Given the description of an element on the screen output the (x, y) to click on. 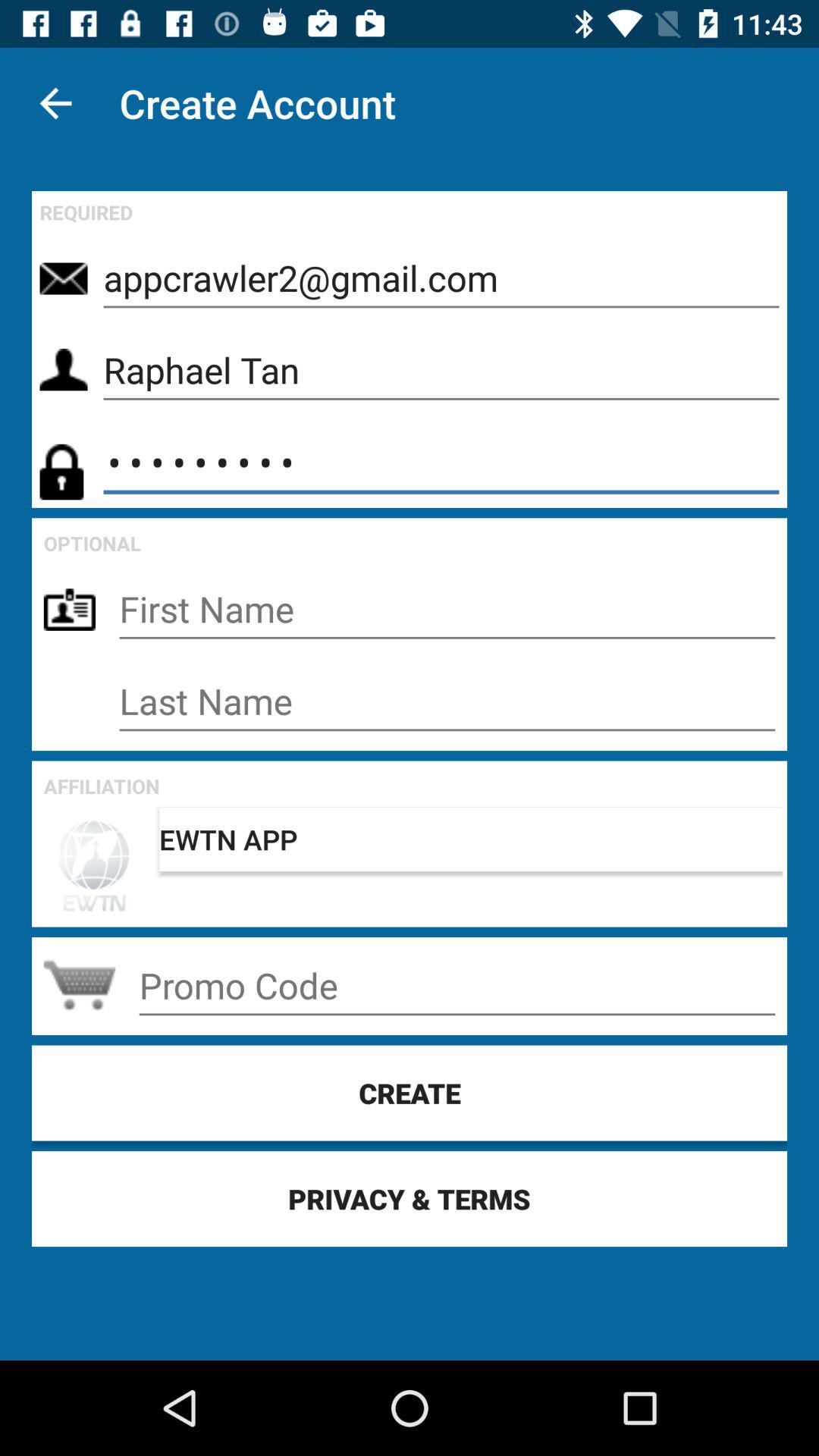
tap icon above affiliation icon (447, 701)
